Given the description of an element on the screen output the (x, y) to click on. 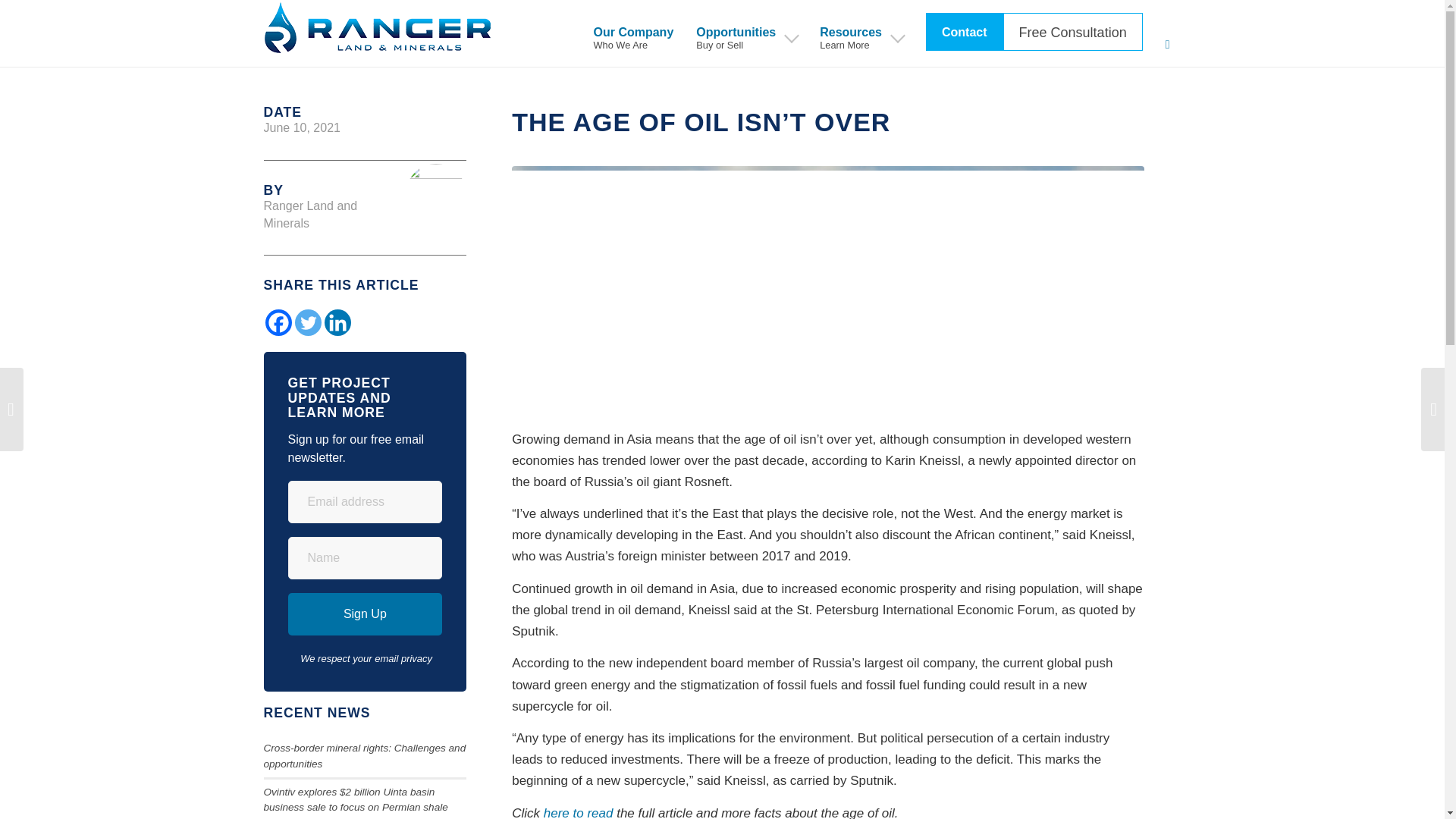
Ranger Minerals Privacy Policy (416, 658)
here to read (577, 812)
oil-rig (746, 33)
Twitter (278, 322)
Contact (307, 322)
Linkedin (958, 33)
ranger-land-and-minerals-logo (337, 322)
